Given the description of an element on the screen output the (x, y) to click on. 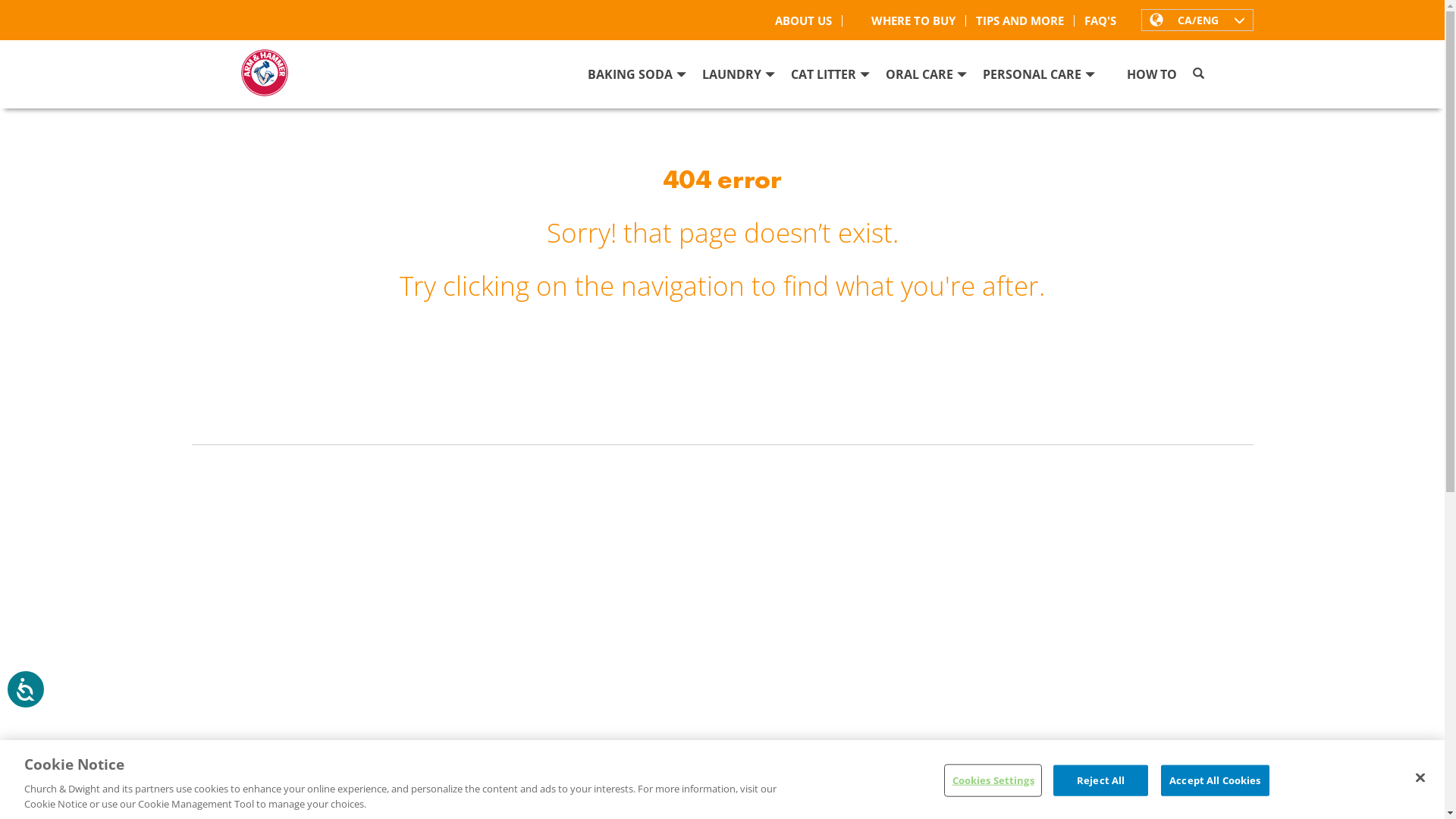
TIPS AND MORE Element type: text (1020, 20)
ORAL CARE Element type: text (925, 78)
LAUNDRY Element type: text (738, 78)
BAKING SODA Element type: text (635, 78)
HOW TO Element type: text (1151, 78)
Reject All Element type: text (1100, 781)
FAQ'S Element type: text (1099, 20)
Accept All Cookies Element type: text (1214, 781)
Accessibility Element type: text (39, 702)
PERSONAL CARE Element type: text (1038, 78)
ABOUT US Element type: text (802, 20)
CAT LITTER Element type: text (829, 78)
WHERE TO BUY Element type: text (903, 20)
Cookies Settings Element type: text (992, 780)
